Given the description of an element on the screen output the (x, y) to click on. 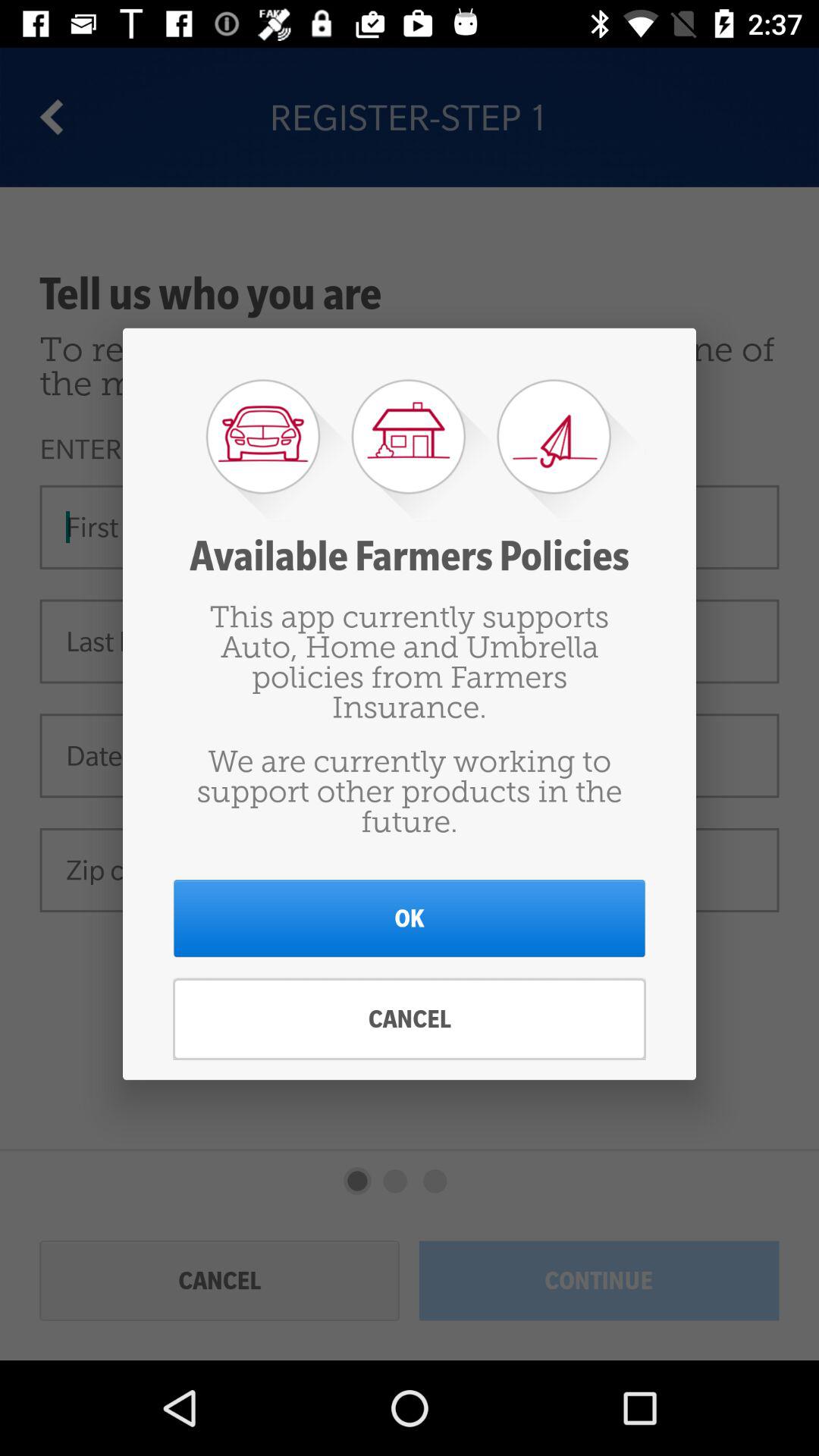
open the icon below the ok (409, 1019)
